Given the description of an element on the screen output the (x, y) to click on. 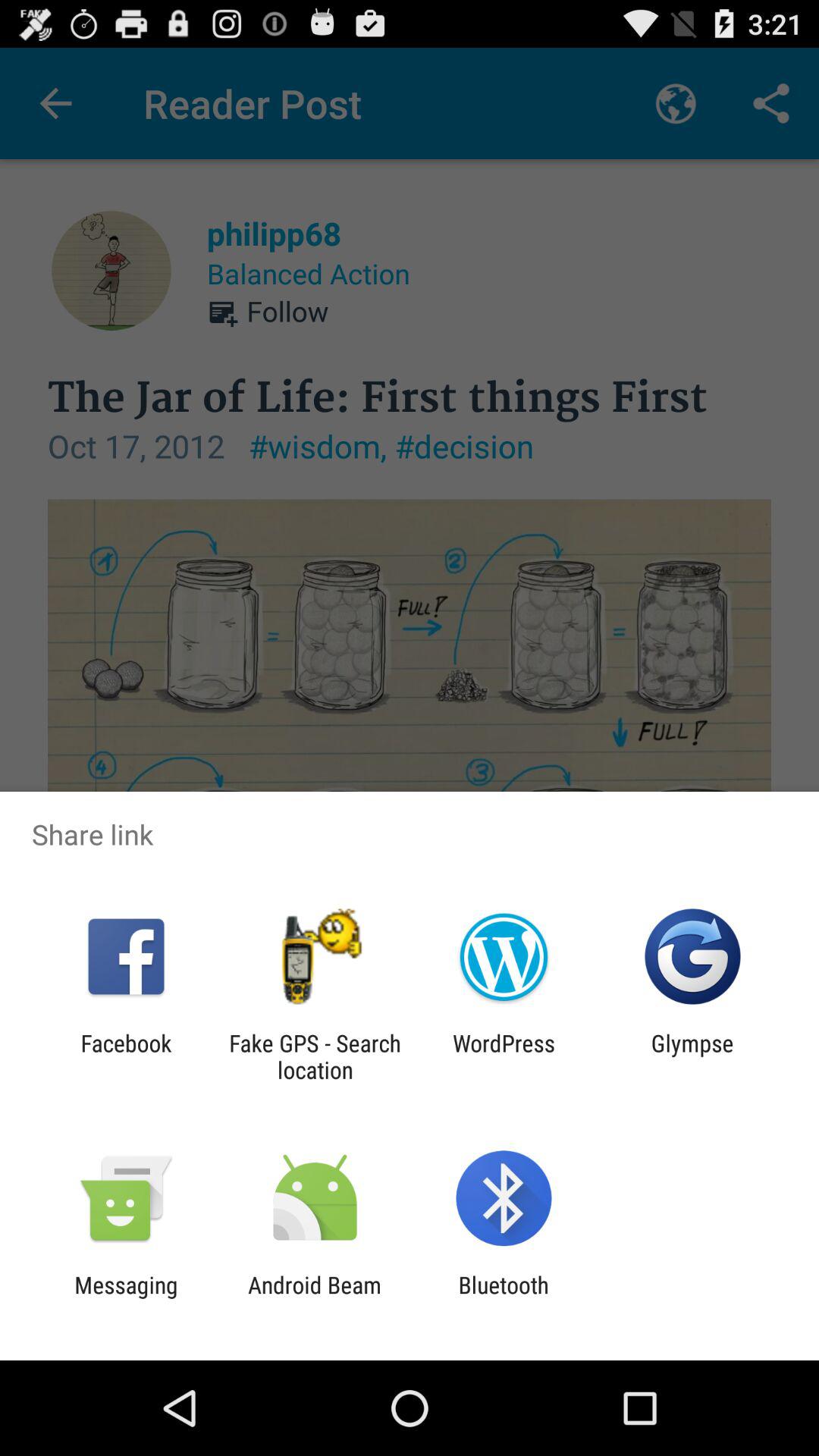
turn off app to the left of the fake gps search item (125, 1056)
